Given the description of an element on the screen output the (x, y) to click on. 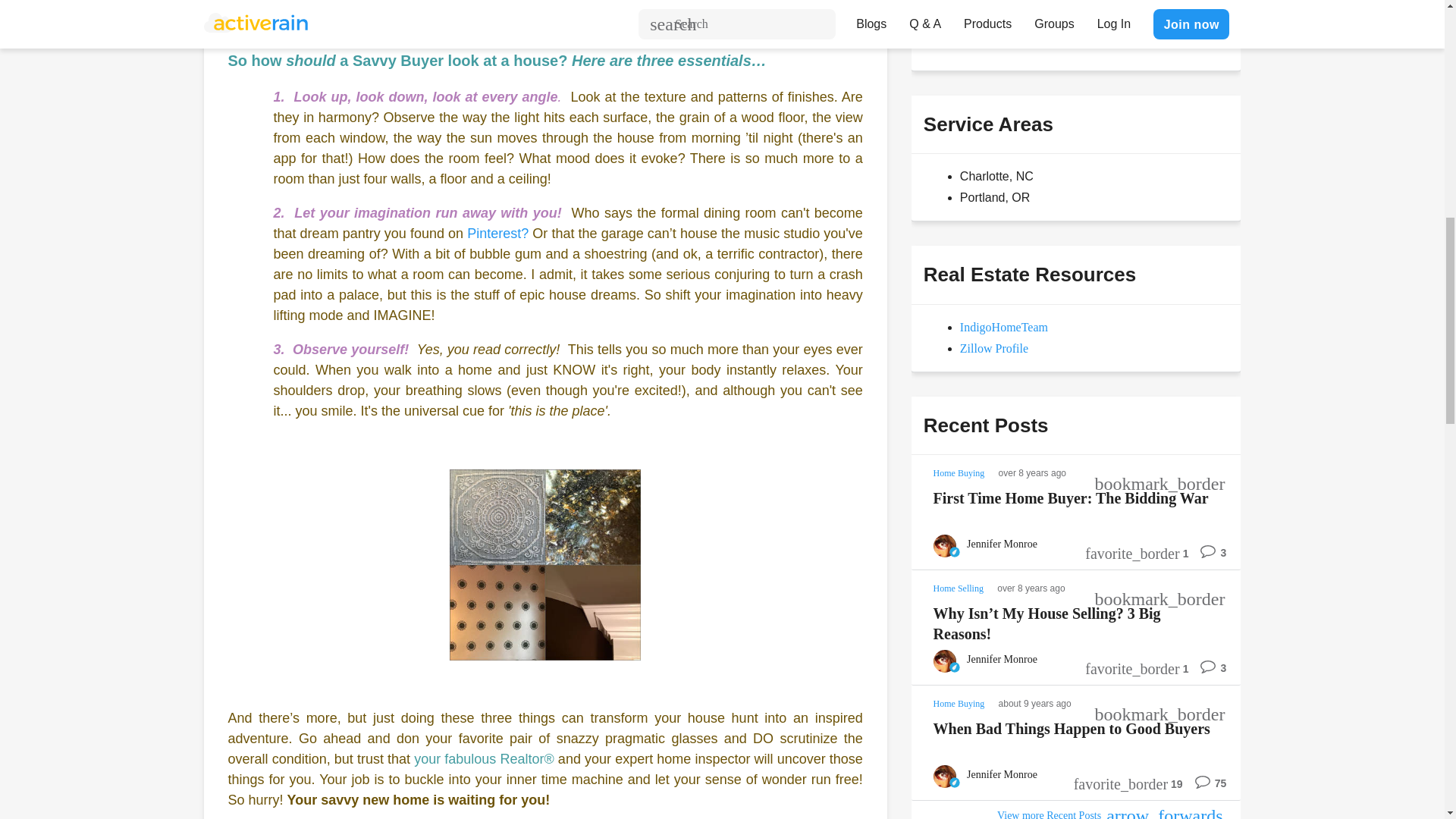
IndigoHomeTeam (1003, 327)
Send Message (978, 30)
Jennifer Monroe on Pinterest (497, 233)
Zillow Profile (993, 348)
Pinterest? (497, 233)
